Given the description of an element on the screen output the (x, y) to click on. 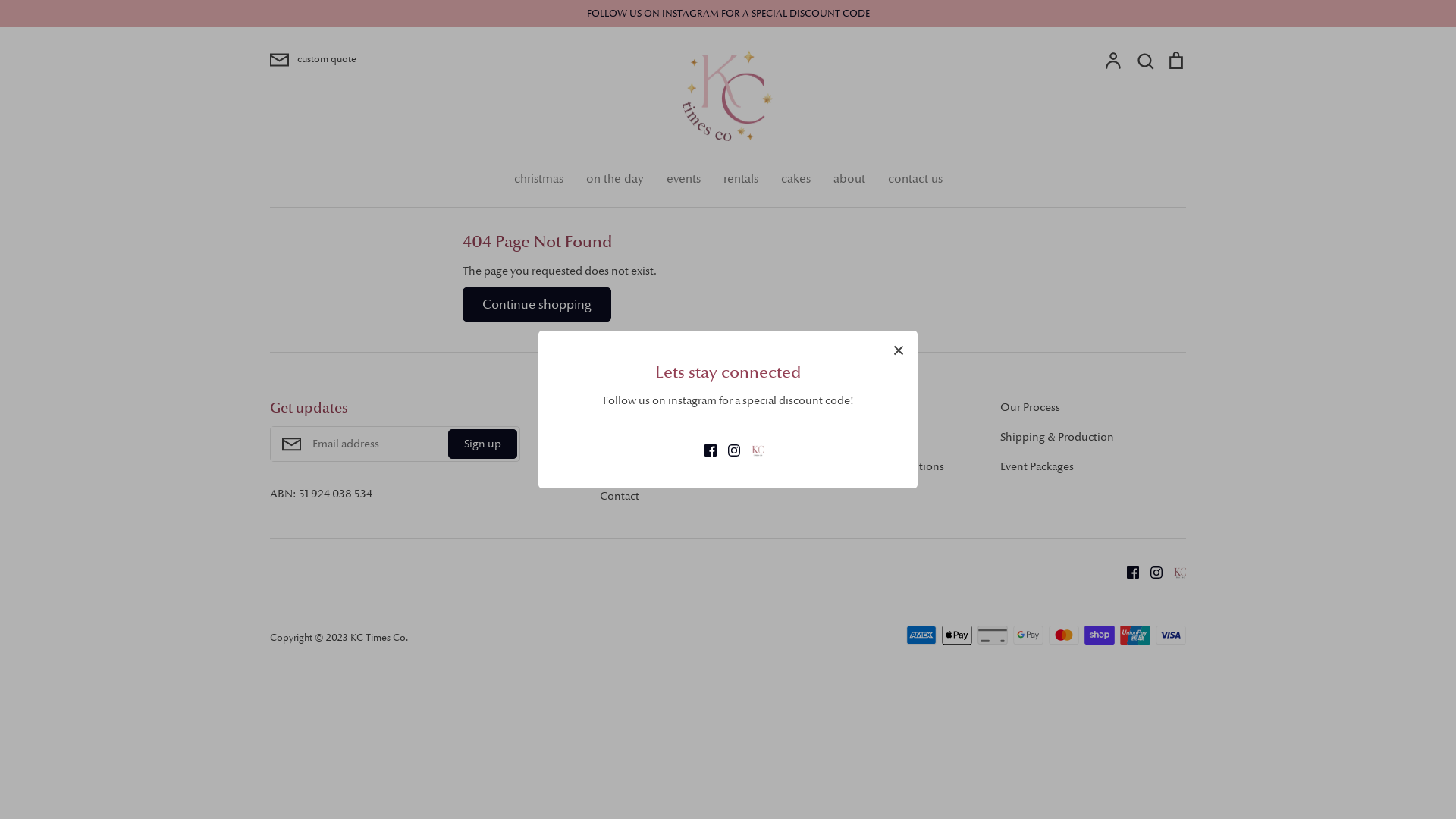
Shipping & Production Element type: text (1056, 436)
Terms & Conditions Element type: text (849, 436)
Search Element type: text (1144, 59)
Cart Element type: text (1176, 59)
custom quote Element type: text (420, 59)
Sign up Element type: text (482, 443)
About Us Element type: text (622, 407)
on the day Element type: text (614, 178)
Recycling Element type: text (823, 407)
Privacy Element type: text (616, 436)
KC Times Co Element type: text (377, 636)
about Element type: text (848, 178)
Rental Terms and Conditions Element type: text (872, 466)
events Element type: text (682, 178)
Our Process Element type: text (1030, 407)
Contact Element type: text (619, 495)
cakes Element type: text (795, 178)
Event Packages Element type: text (1036, 466)
Account Element type: text (1113, 59)
Cancellations & Refunds Element type: text (660, 466)
Continue shopping Element type: text (536, 304)
contact us Element type: text (914, 178)
christmas Element type: text (538, 178)
rentals Element type: text (740, 178)
